Given the description of an element on the screen output the (x, y) to click on. 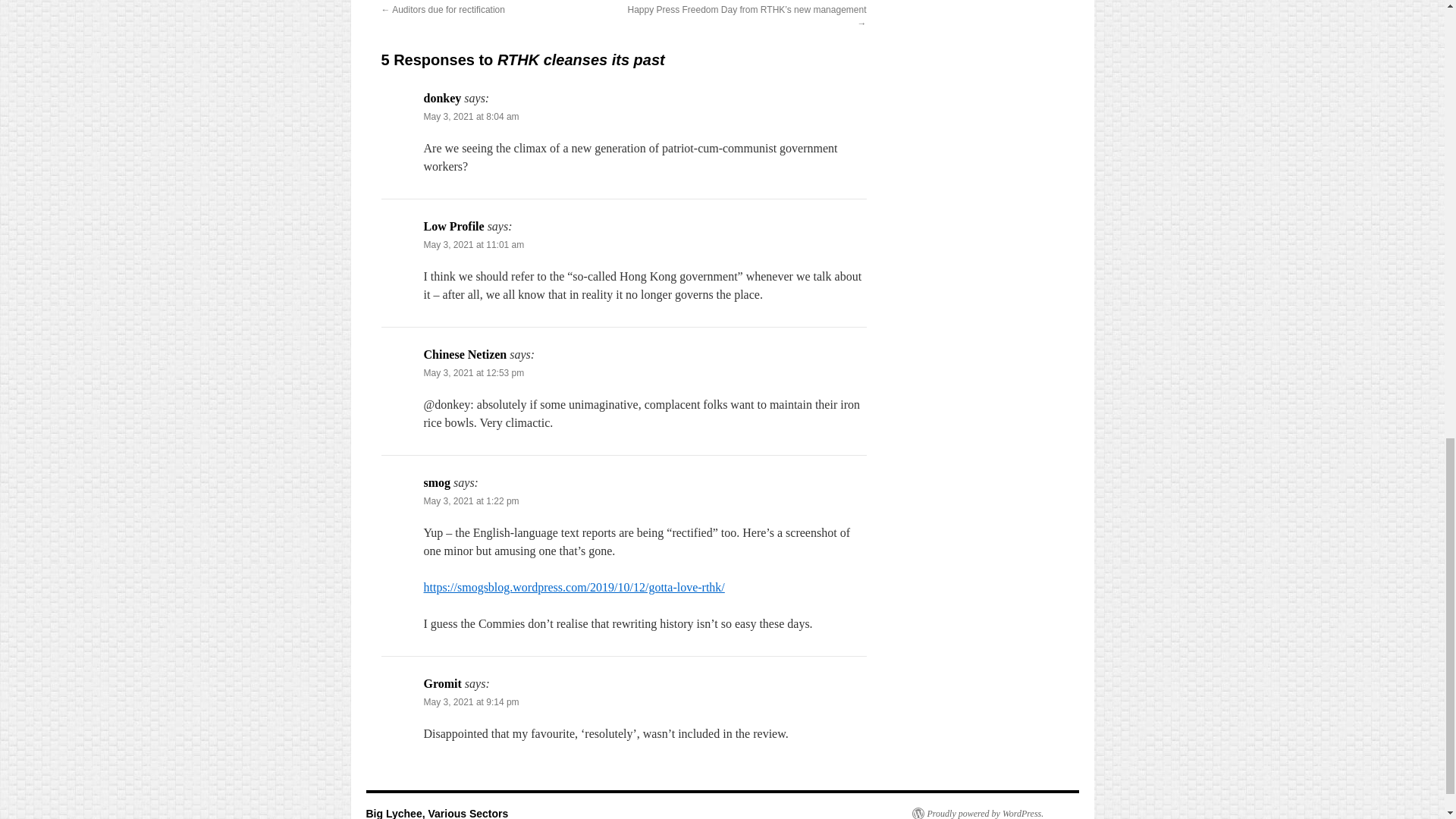
May 3, 2021 at 8:04 am (470, 116)
May 3, 2021 at 11:01 am (473, 244)
May 3, 2021 at 9:14 pm (470, 701)
May 3, 2021 at 1:22 pm (470, 501)
May 3, 2021 at 12:53 pm (473, 372)
